Given the description of an element on the screen output the (x, y) to click on. 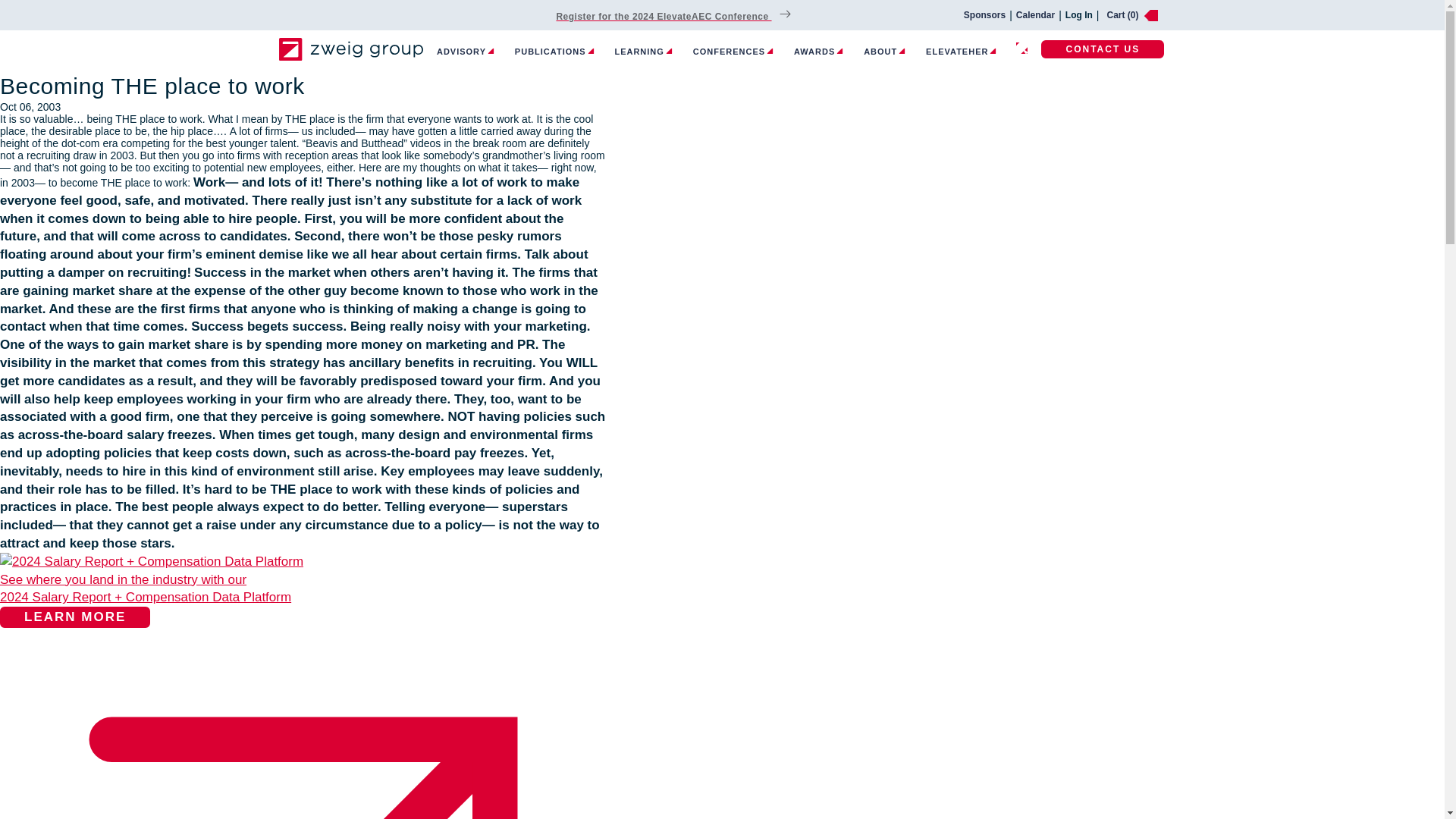
Log In (1079, 14)
Register for the 2024 ElevateAEC Conference (668, 15)
Sponsors (984, 14)
Calendar (1035, 14)
